Given the description of an element on the screen output the (x, y) to click on. 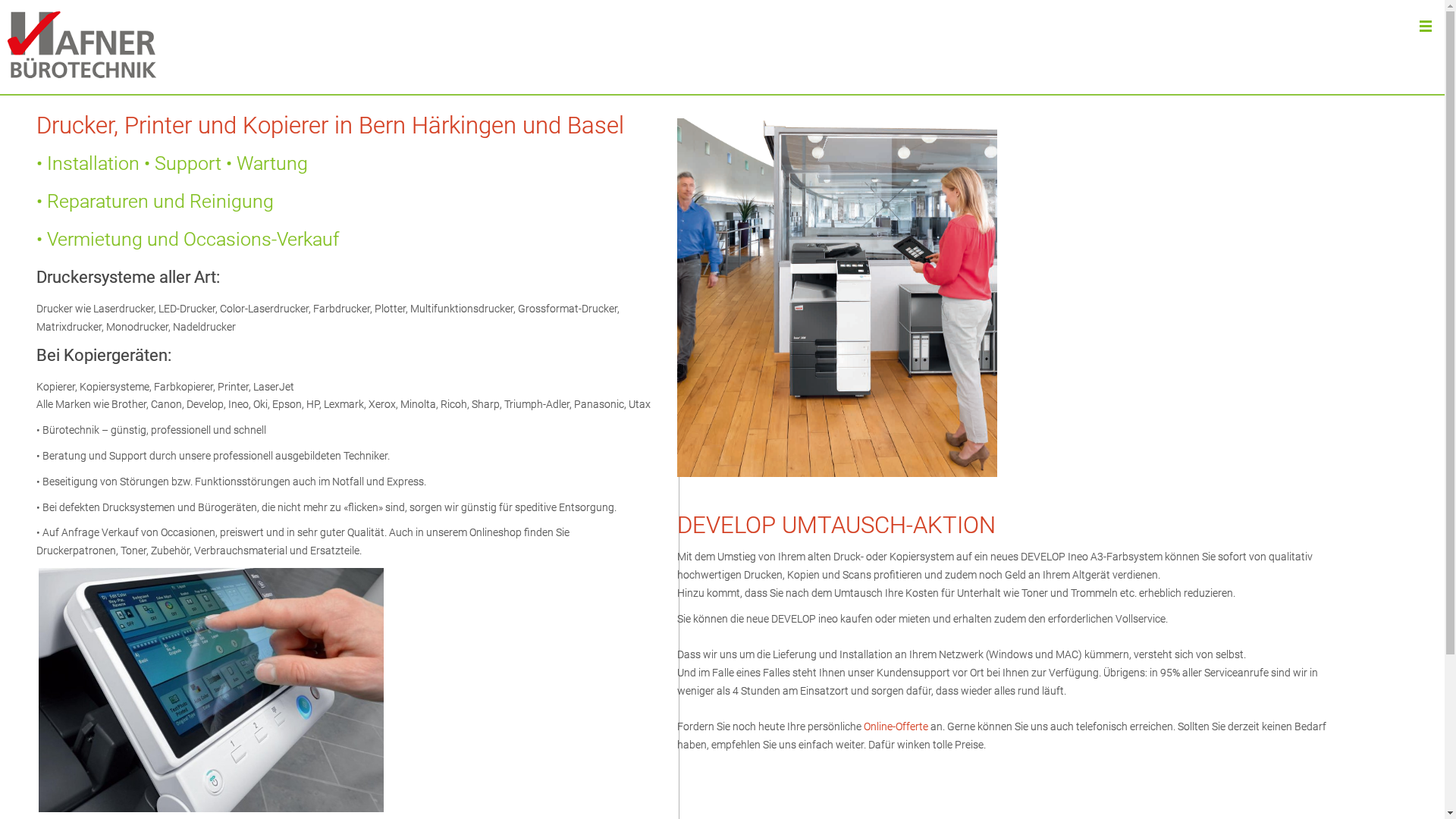
Online-Offerte Element type: text (895, 726)
